Given the description of an element on the screen output the (x, y) to click on. 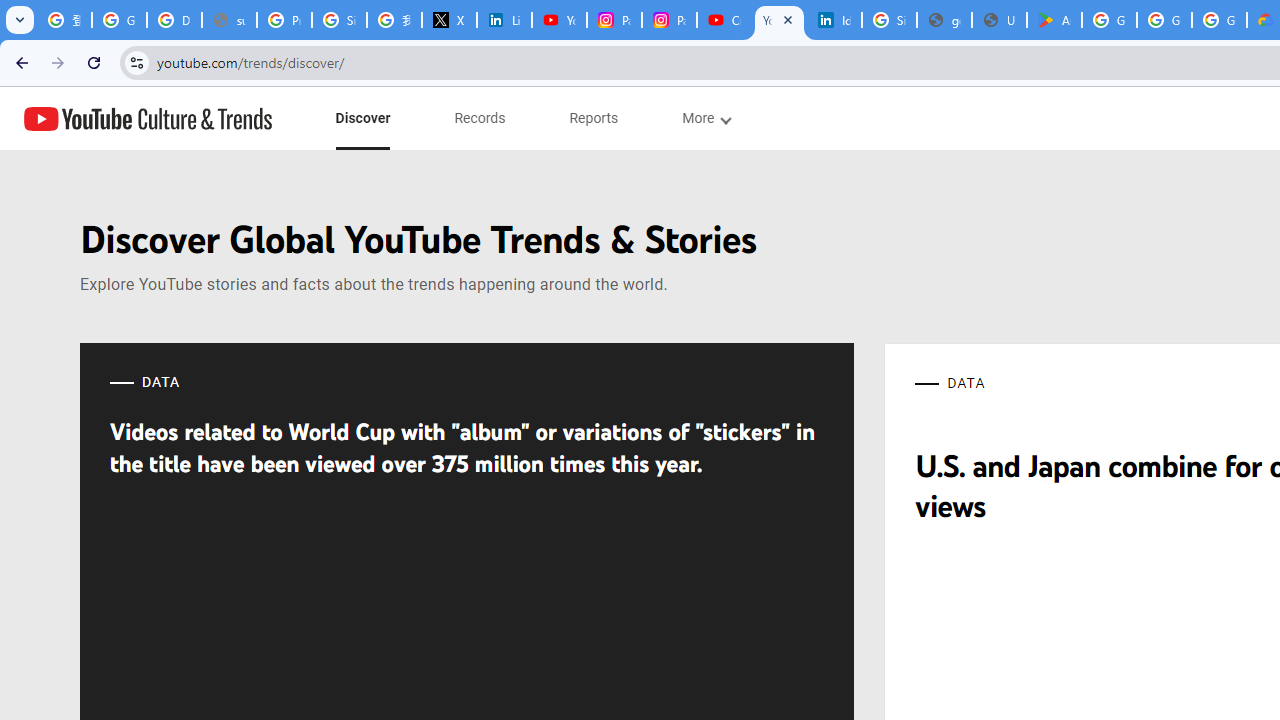
support.google.com - Network error (229, 20)
Privacy Help Center - Policies Help (284, 20)
subnav-More menupopup (706, 118)
YouTube Content Monetization Policies - How YouTube Works (559, 20)
subnav-Reports menupopup (594, 118)
subnav-Discover menupopup (362, 118)
Google Workspace - Specific Terms (1218, 20)
Android Apps on Google Play (1053, 20)
